Given the description of an element on the screen output the (x, y) to click on. 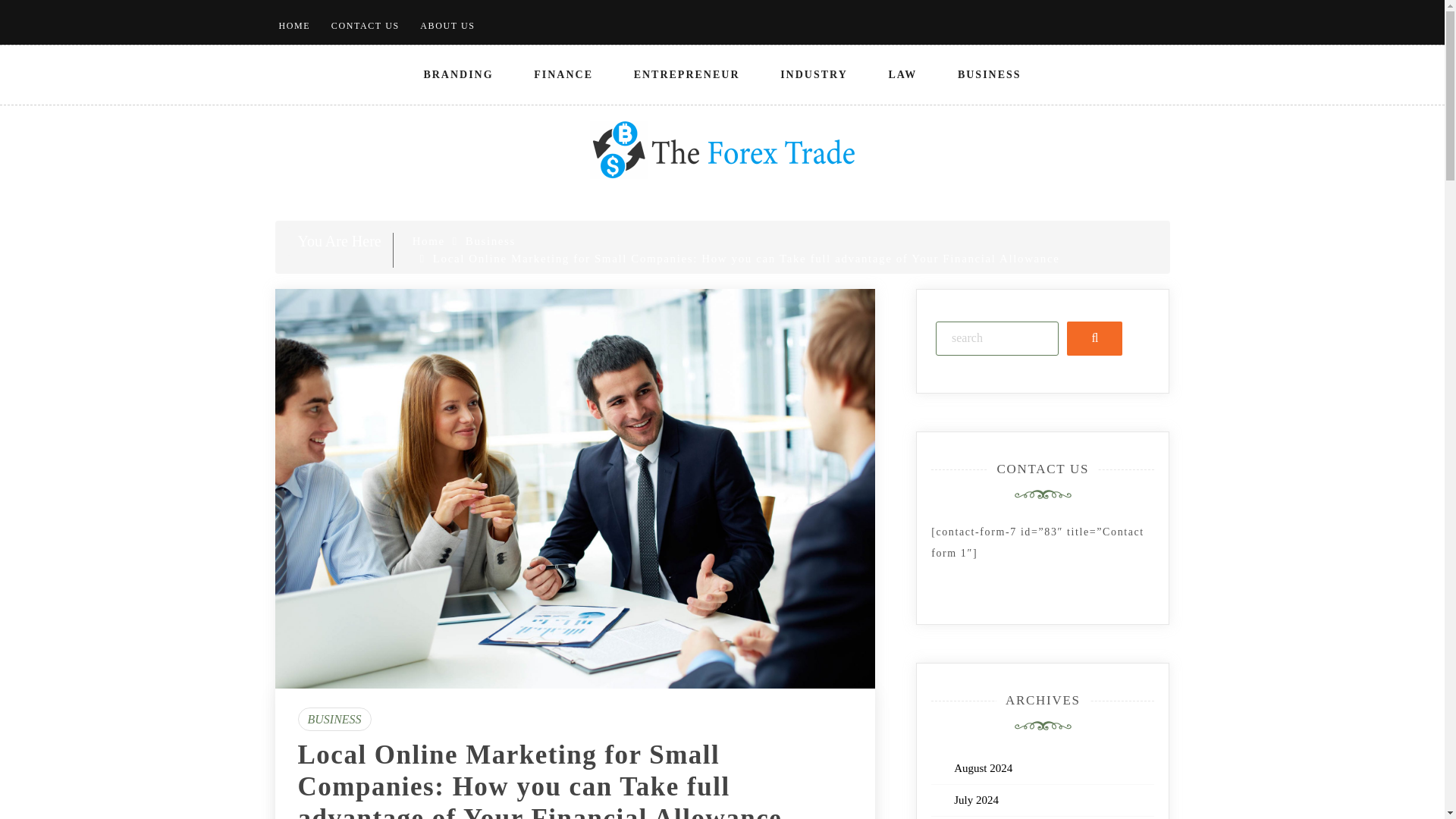
Search (1094, 338)
BRANDING (457, 74)
FINANCE (563, 74)
HOME (295, 25)
July 2024 (975, 799)
BUSINESS (989, 74)
Business (490, 241)
LAW (901, 74)
ENTREPRENEUR (686, 74)
